Given the description of an element on the screen output the (x, y) to click on. 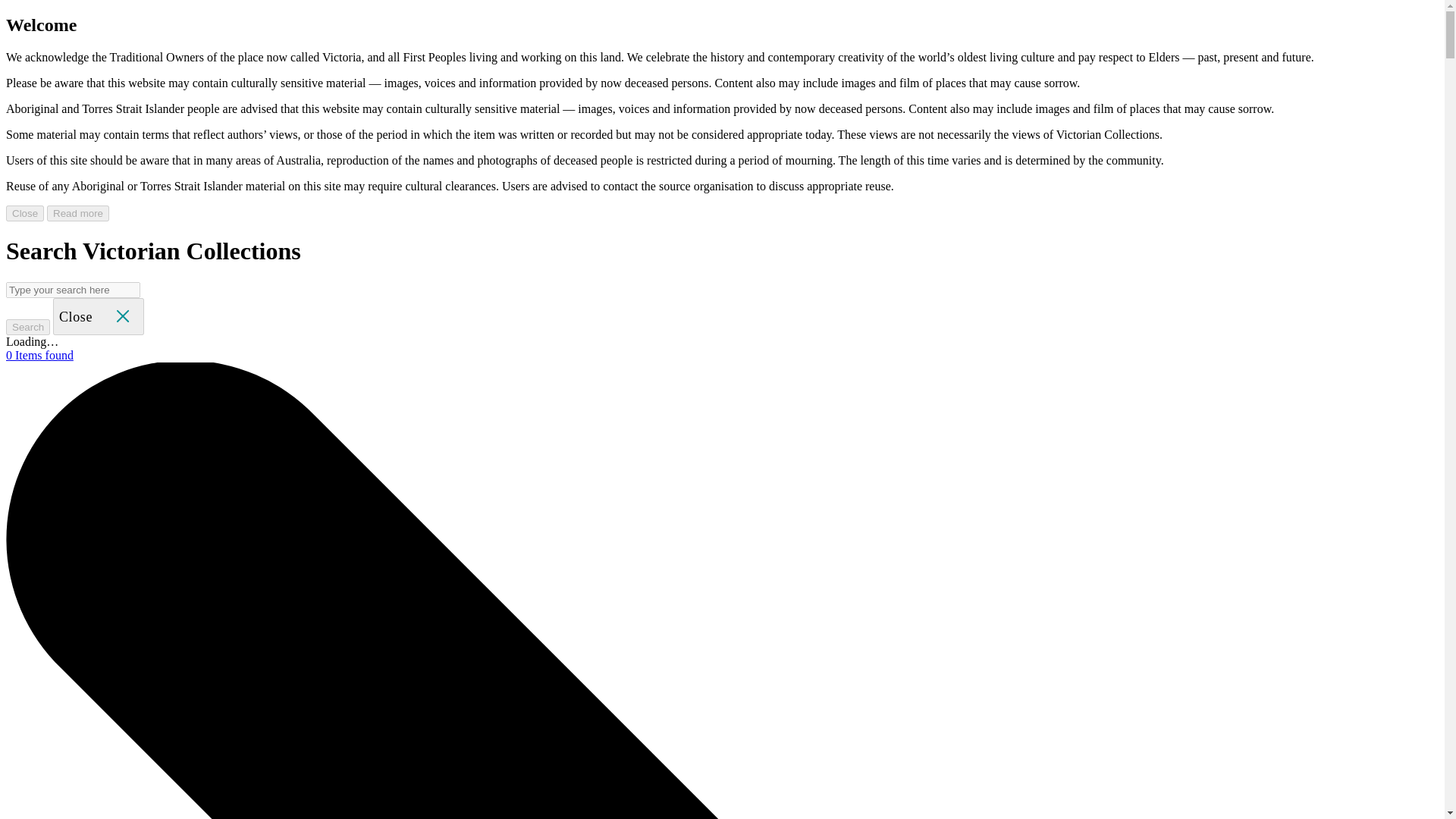
Search (27, 326)
Close (24, 213)
Close (98, 316)
Read more (77, 213)
Close (98, 315)
